Given the description of an element on the screen output the (x, y) to click on. 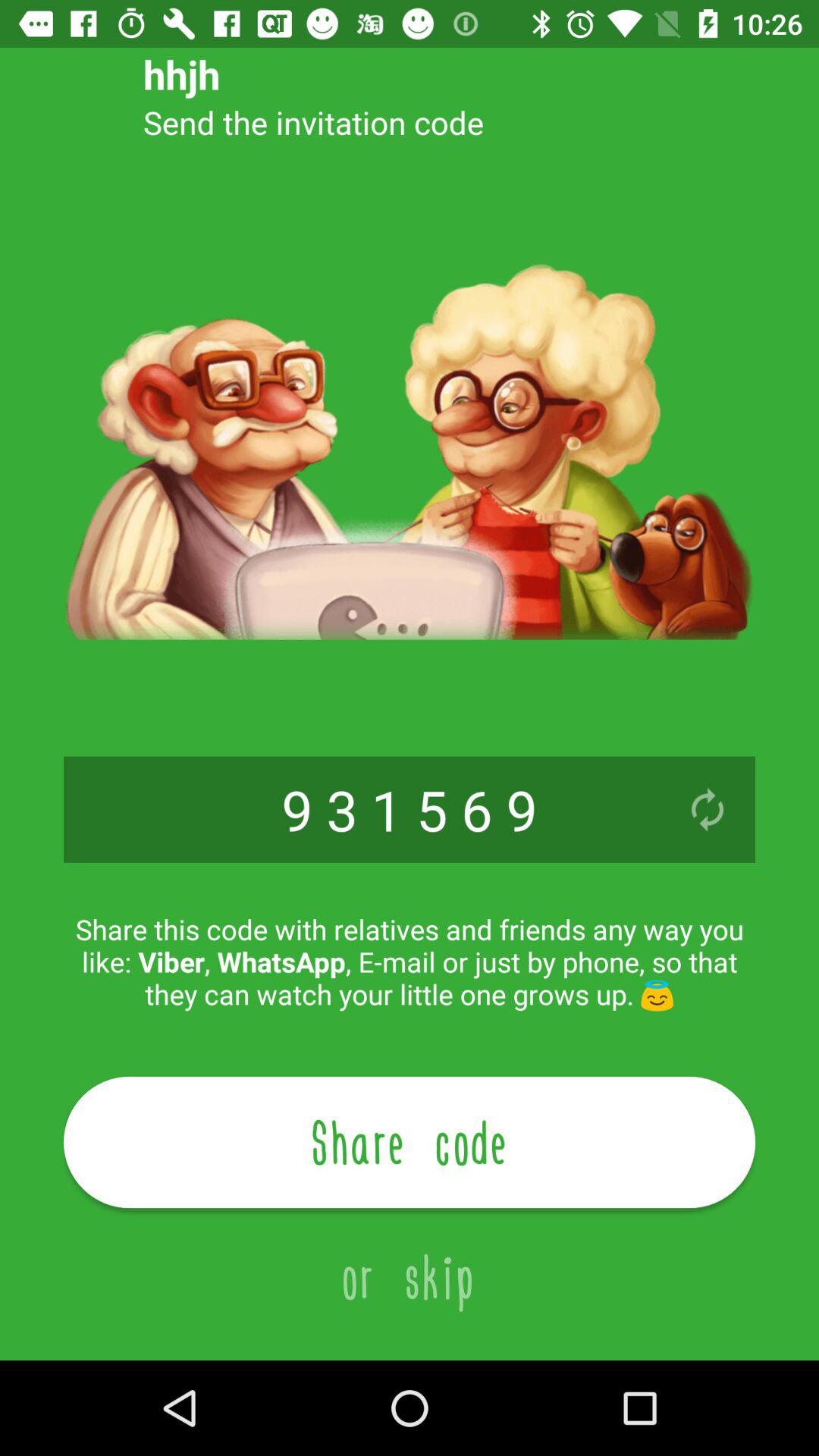
launch the icon above the share this code icon (707, 809)
